Given the description of an element on the screen output the (x, y) to click on. 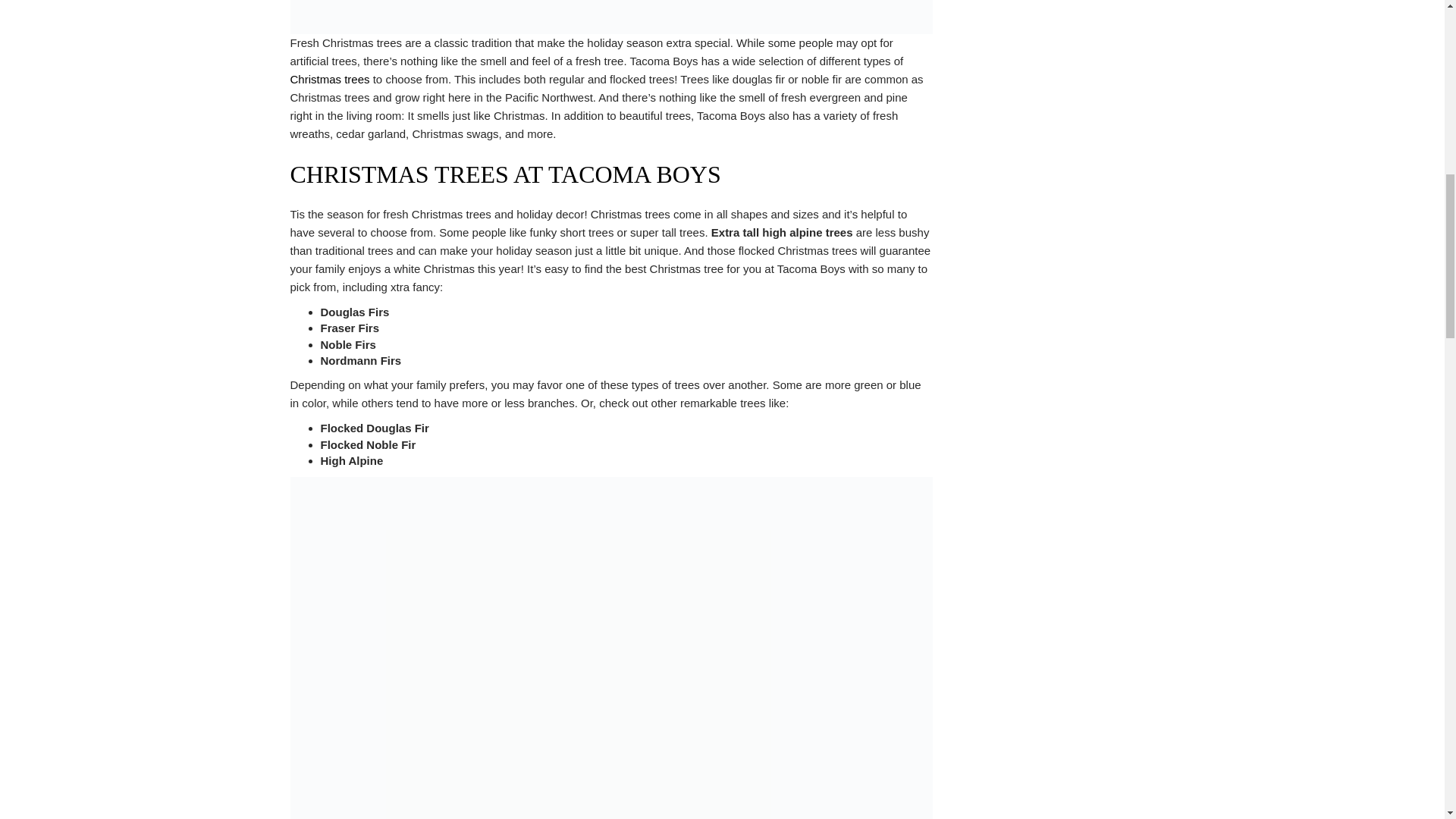
Christmas trees (329, 78)
